Given the description of an element on the screen output the (x, y) to click on. 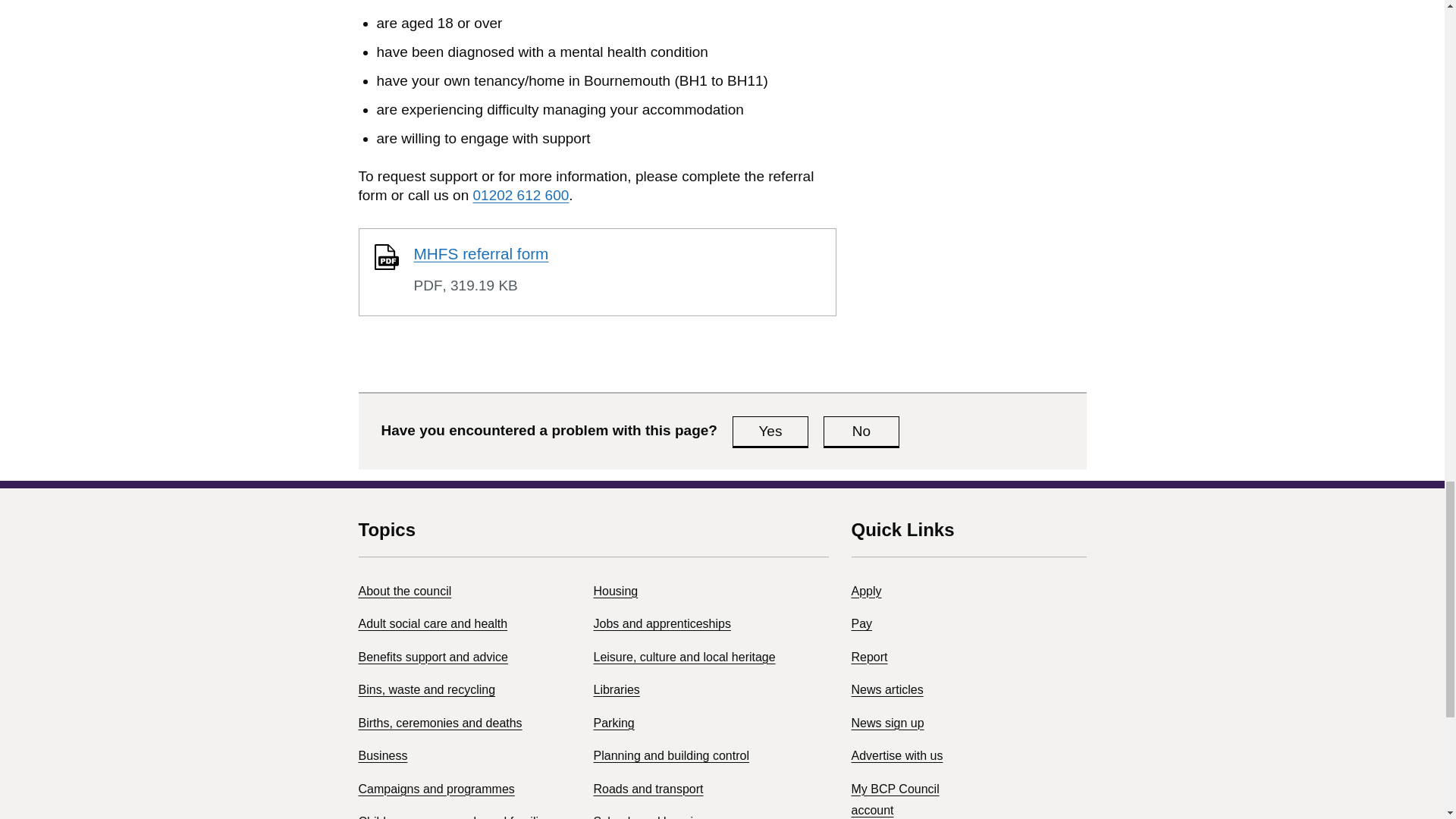
Births, ceremonies and deaths (439, 722)
Roads and transport (647, 788)
Leisure, culture and local heritage (683, 656)
Pay (861, 623)
Jobs and apprenticeships (661, 623)
Parking (612, 722)
Children, young people and families (454, 816)
No (861, 431)
Housing (614, 590)
Bins, waste and recycling (426, 689)
Apply (865, 590)
01202 612 600 (521, 195)
Planning and building control (670, 755)
About the council (404, 590)
Yes (770, 431)
